Given the description of an element on the screen output the (x, y) to click on. 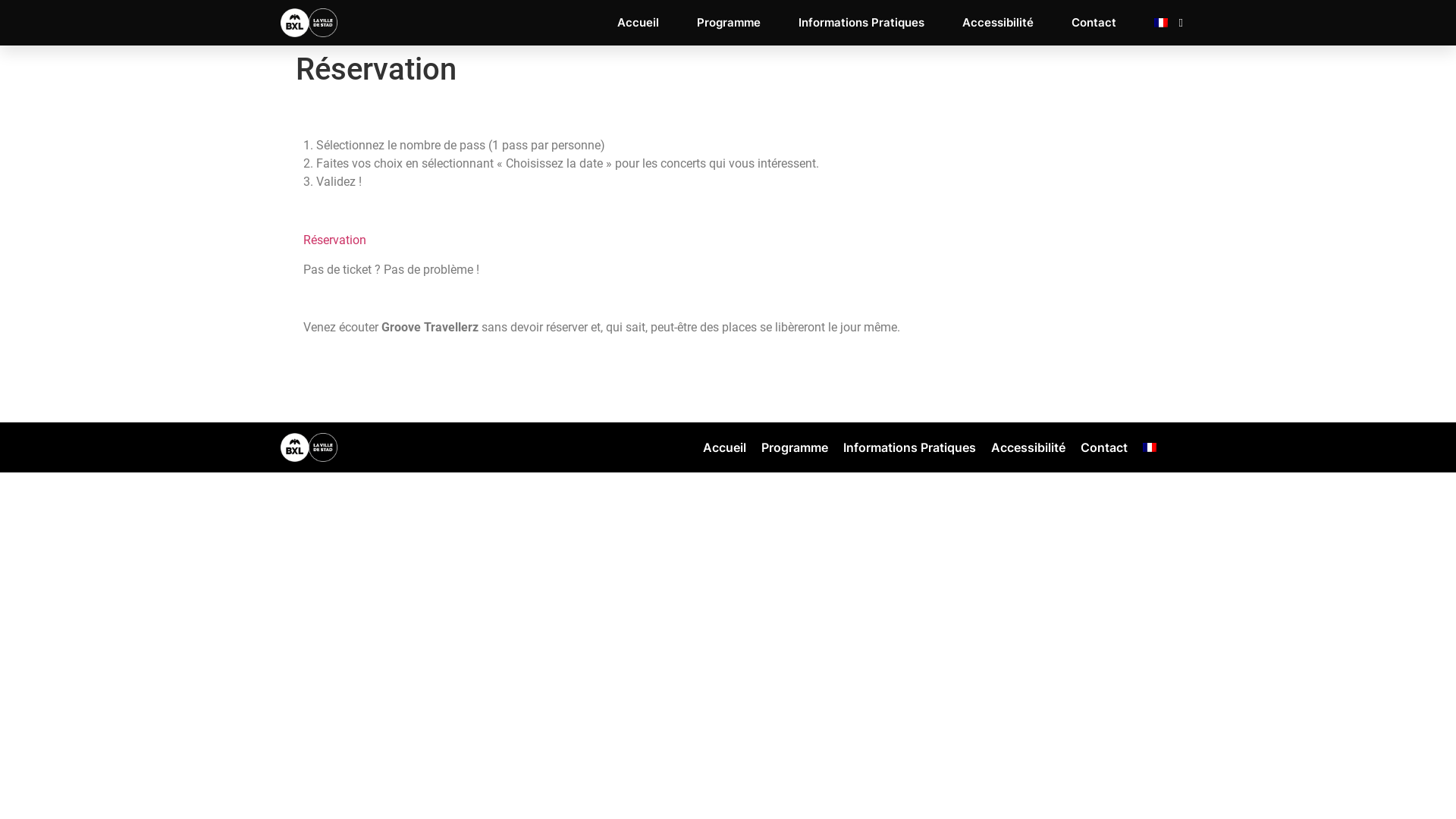
Accueil Element type: text (724, 446)
Informations Pratiques Element type: text (861, 22)
Contact Element type: text (1093, 22)
Programme Element type: text (728, 22)
Programme Element type: text (794, 446)
Accueil Element type: text (637, 22)
Contact Element type: text (1104, 446)
Informations Pratiques Element type: text (909, 446)
